Given the description of an element on the screen output the (x, y) to click on. 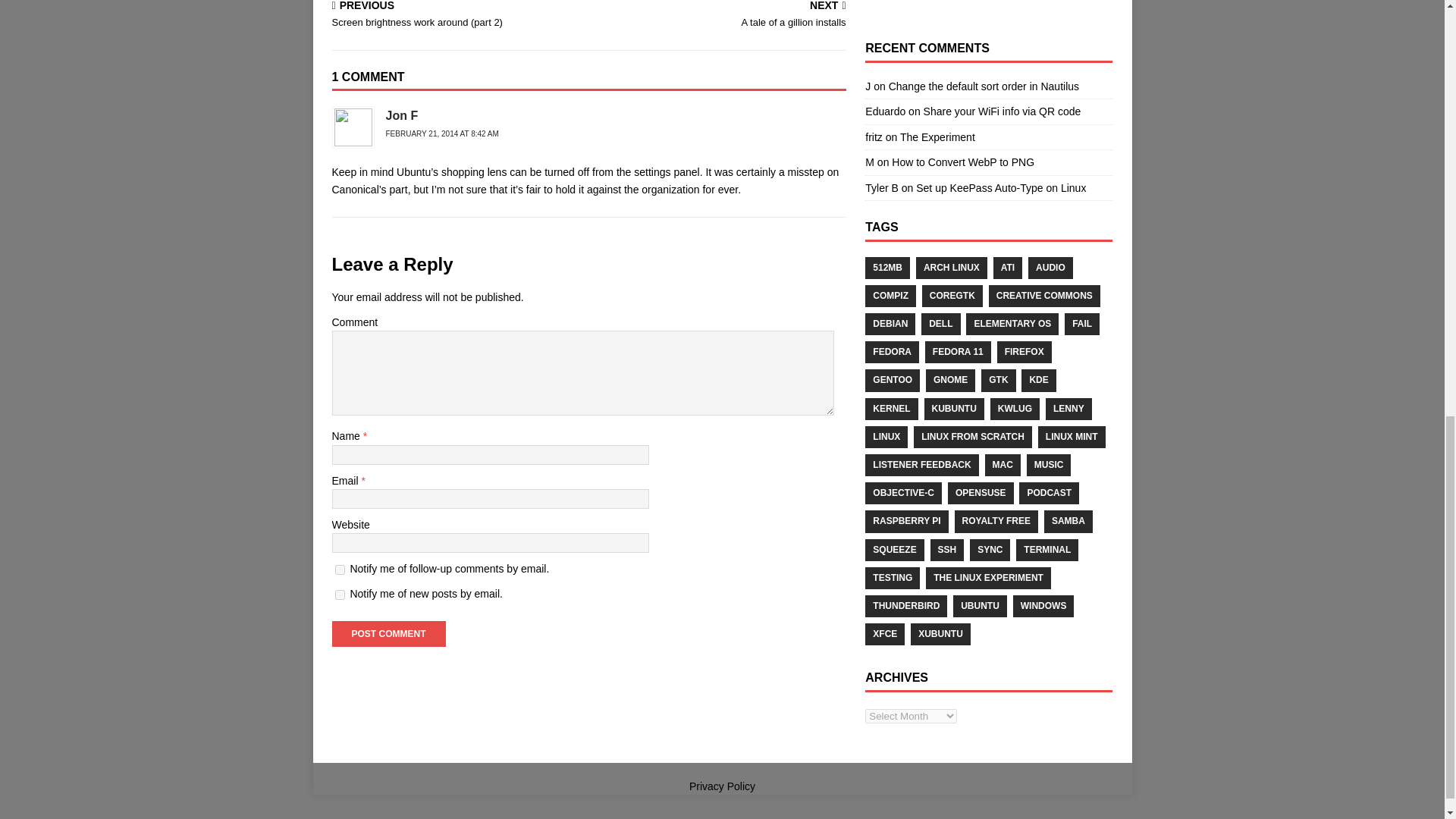
subscribe (339, 569)
subscribe (339, 594)
Change the default sort order in Nautilus (983, 86)
Share your WiFi info via QR code (1002, 111)
Post Comment (720, 15)
Post Comment (388, 633)
Advertisement (388, 633)
FEBRUARY 21, 2014 AT 8:42 AM (988, 2)
